Given the description of an element on the screen output the (x, y) to click on. 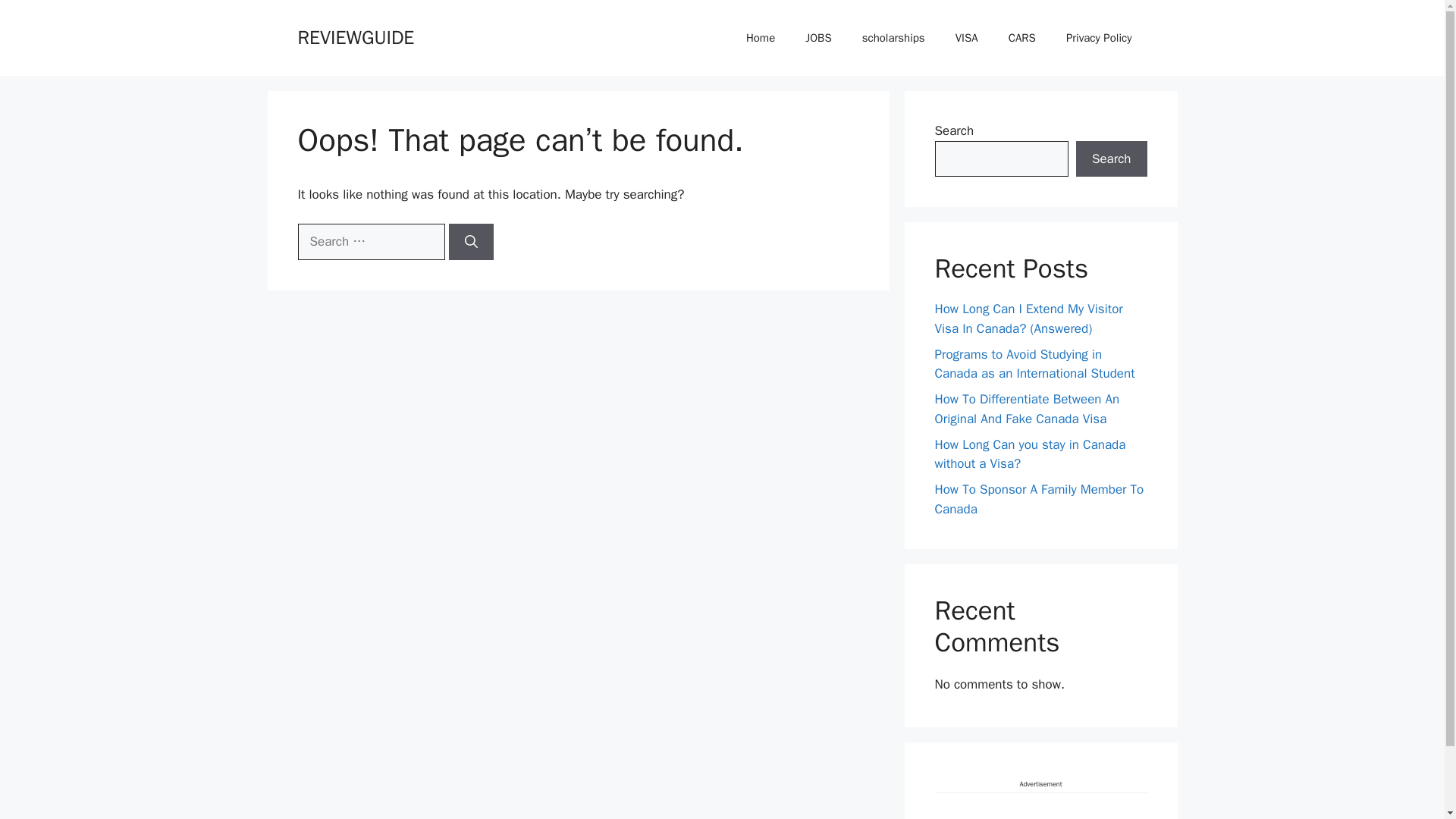
Search (1111, 158)
How Long Can you stay in Canada without a Visa? (1029, 454)
CARS (1021, 37)
Privacy Policy (1099, 37)
REVIEWGUIDE (355, 37)
How To Sponsor A Family Member To Canada (1038, 498)
JOBS (817, 37)
VISA (966, 37)
Home (760, 37)
